Given the description of an element on the screen output the (x, y) to click on. 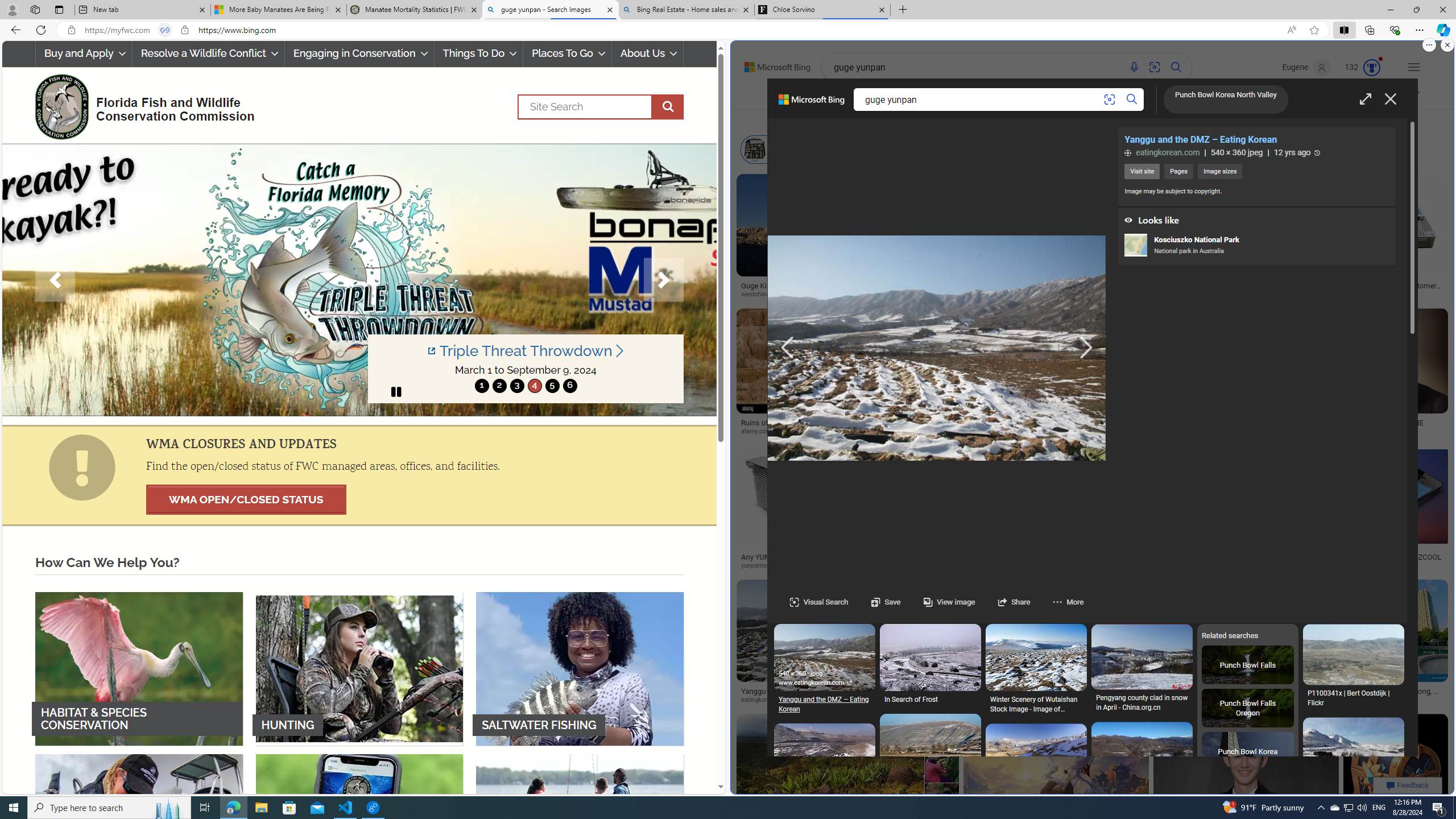
alamy.com (808, 431)
Looks like (1256, 217)
License (1104, 121)
Kosciuszko National Park (1135, 245)
istockphoto.com (1033, 294)
Punch Bowl Falls (1247, 664)
SALTWATER FISHING (580, 668)
Share (1002, 601)
